Given the description of an element on the screen output the (x, y) to click on. 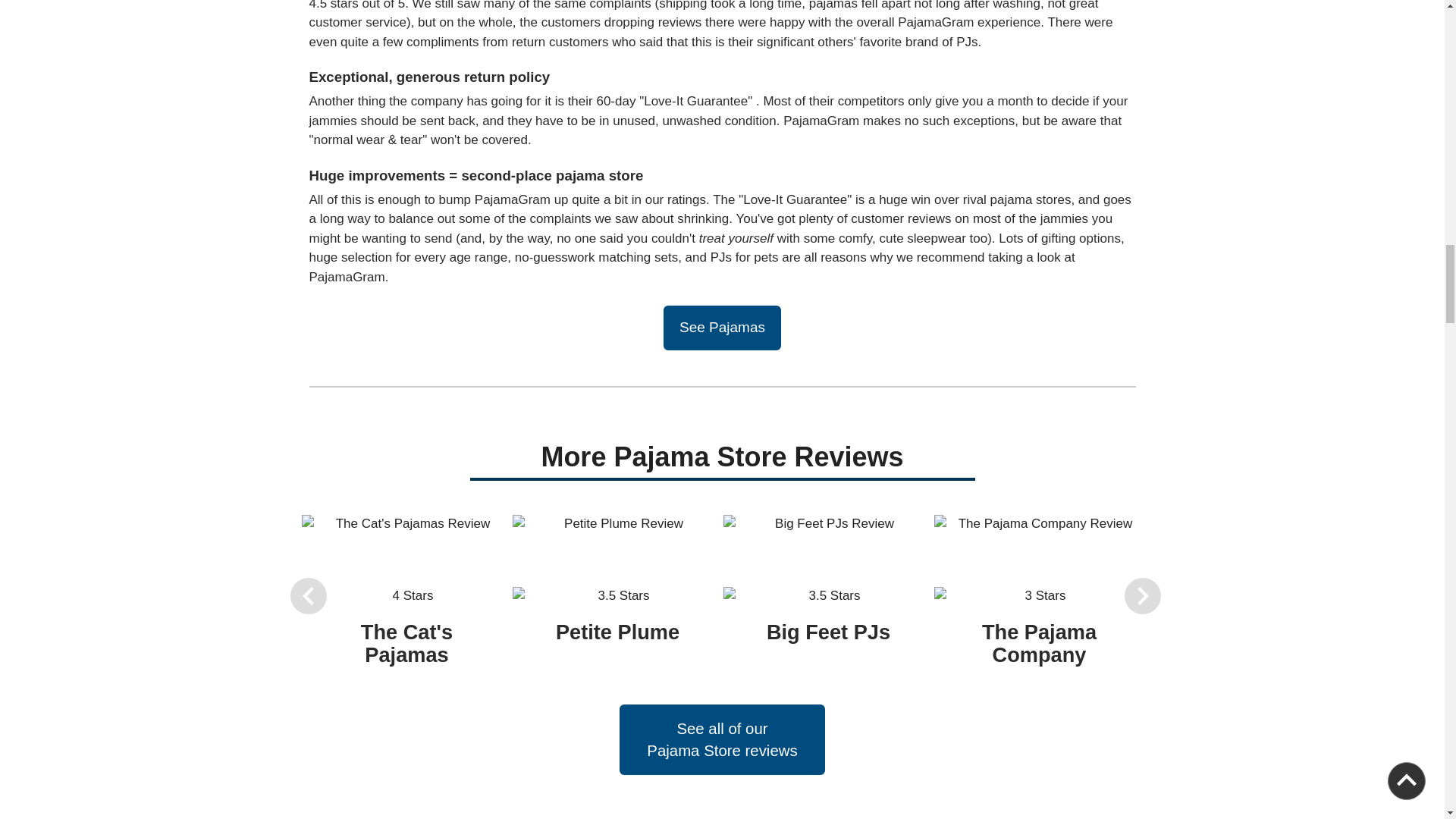
Visit PajamaGram (721, 327)
Pajama Store reviews (722, 751)
